Given the description of an element on the screen output the (x, y) to click on. 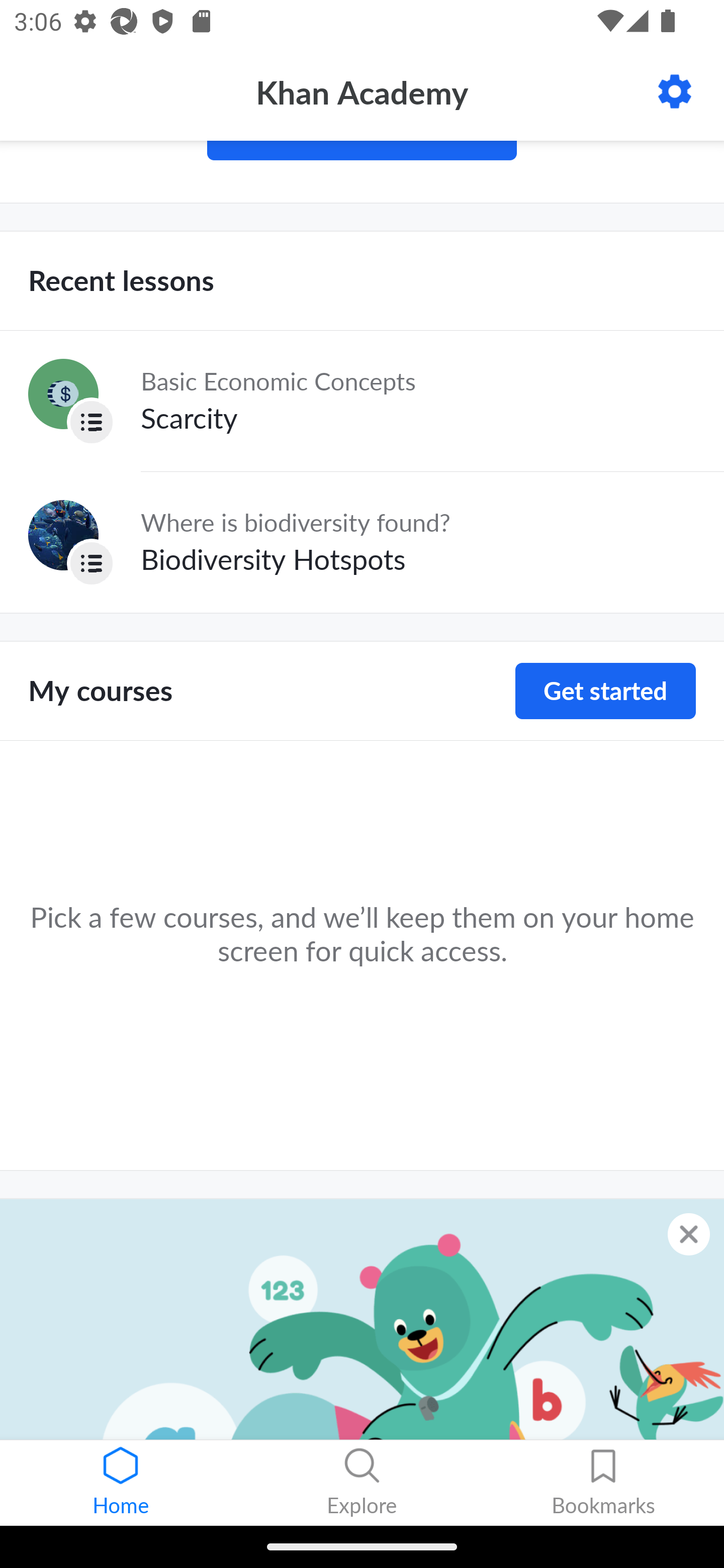
Settings (674, 91)
Lesson Basic Economic Concepts Scarcity (362, 400)
Get started (605, 691)
Dismiss (688, 1234)
Home (120, 1482)
Explore (361, 1482)
Bookmarks (603, 1482)
